Given the description of an element on the screen output the (x, y) to click on. 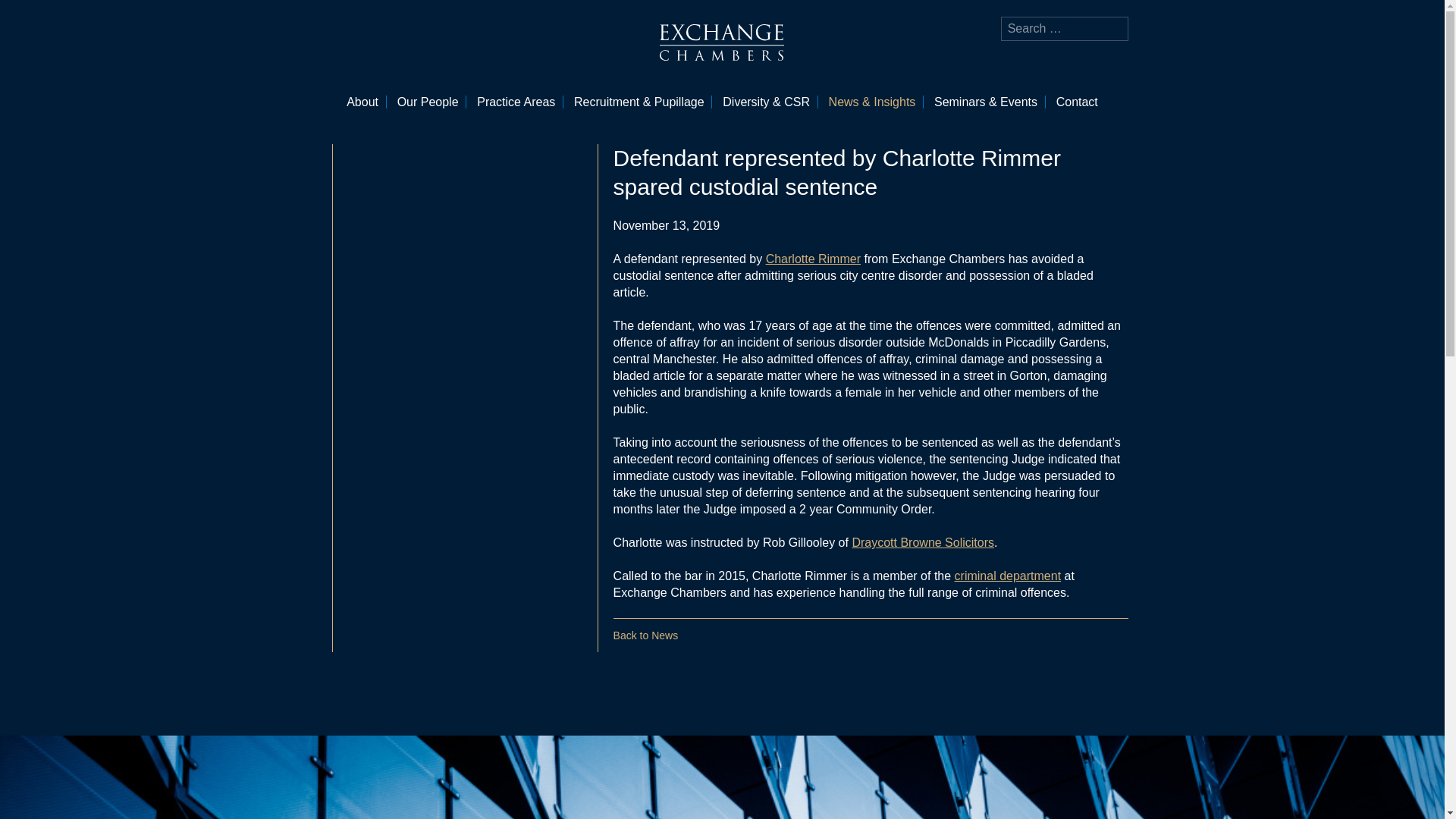
criminal department (1008, 575)
Contact (1077, 101)
Draycott Browne Solicitors (922, 542)
Practice Areas (515, 101)
Charlotte Rimmer (812, 258)
About (362, 101)
Our People (427, 101)
Exchange Chambers (721, 42)
Back to News (645, 635)
Search for: (1064, 28)
